Given the description of an element on the screen output the (x, y) to click on. 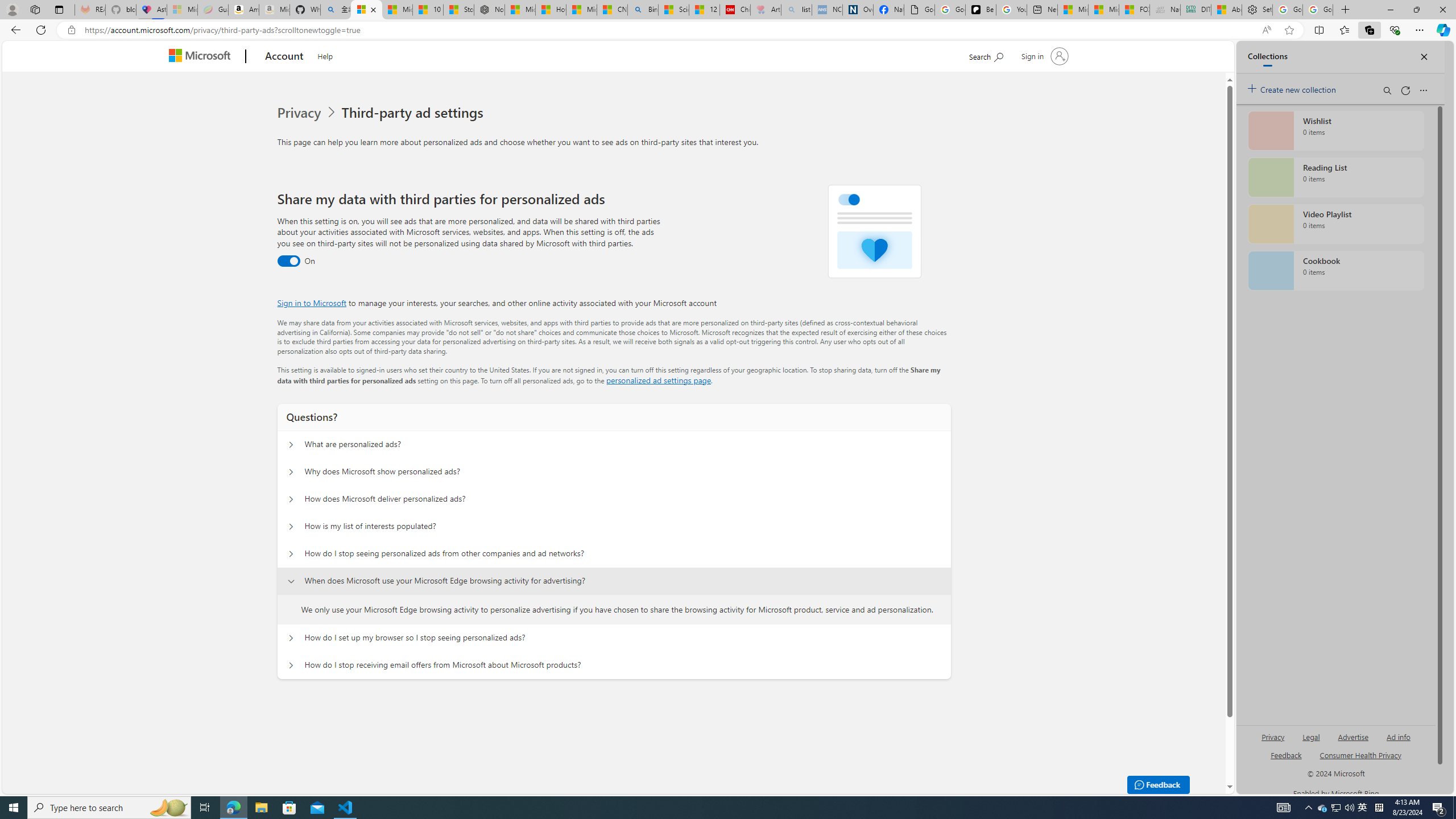
Account (283, 56)
